Given the description of an element on the screen output the (x, y) to click on. 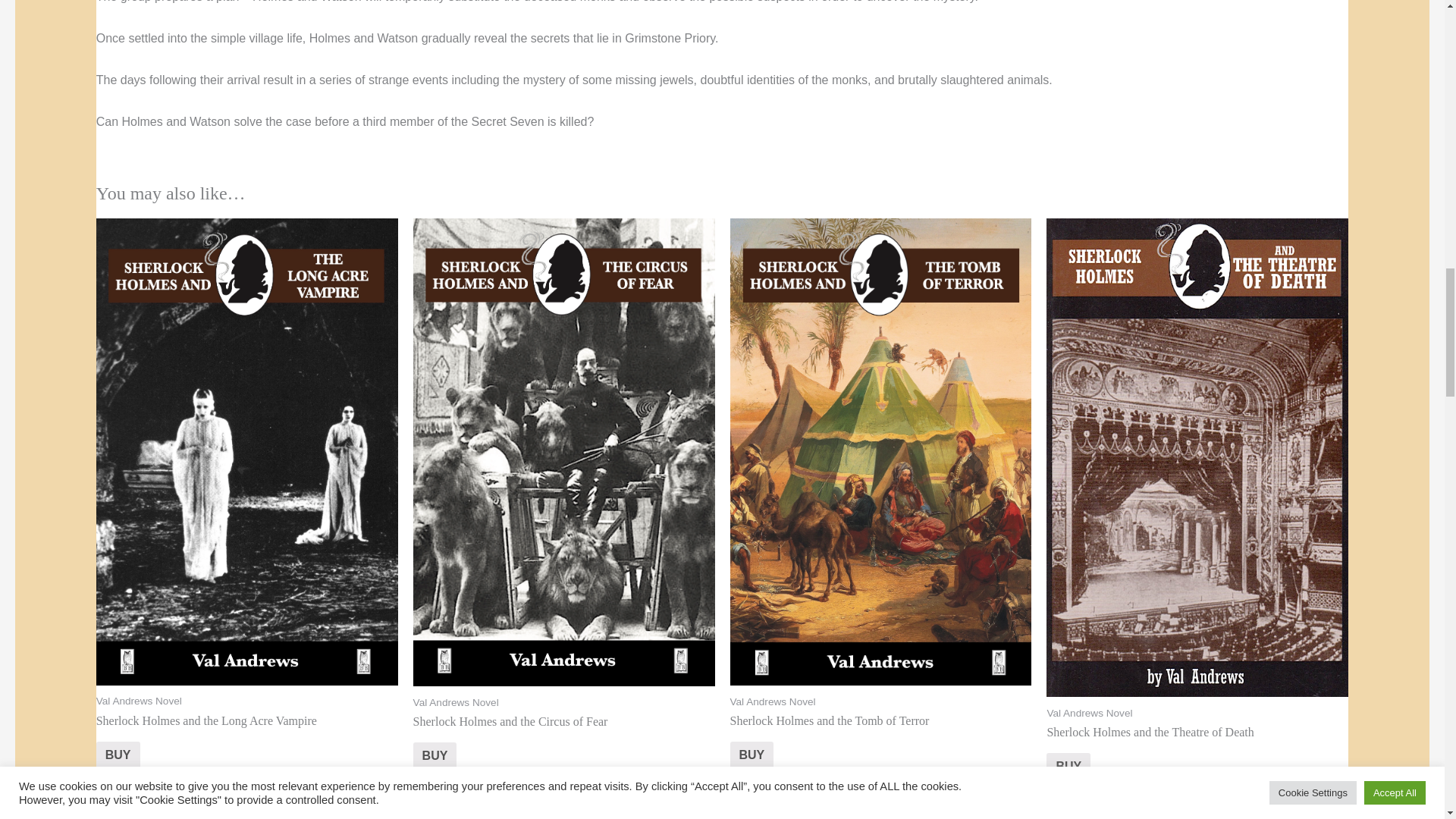
BUY (117, 755)
Sherlock Holmes and the Theatre of Death (1197, 748)
BUY (1068, 766)
Sherlock Holmes and the Tomb of Terror (879, 737)
BUY (435, 756)
Sherlock Holmes and the Circus of Fear (563, 738)
BUY (751, 755)
Sherlock Holmes and the Long Acre Vampire (246, 737)
